Given the description of an element on the screen output the (x, y) to click on. 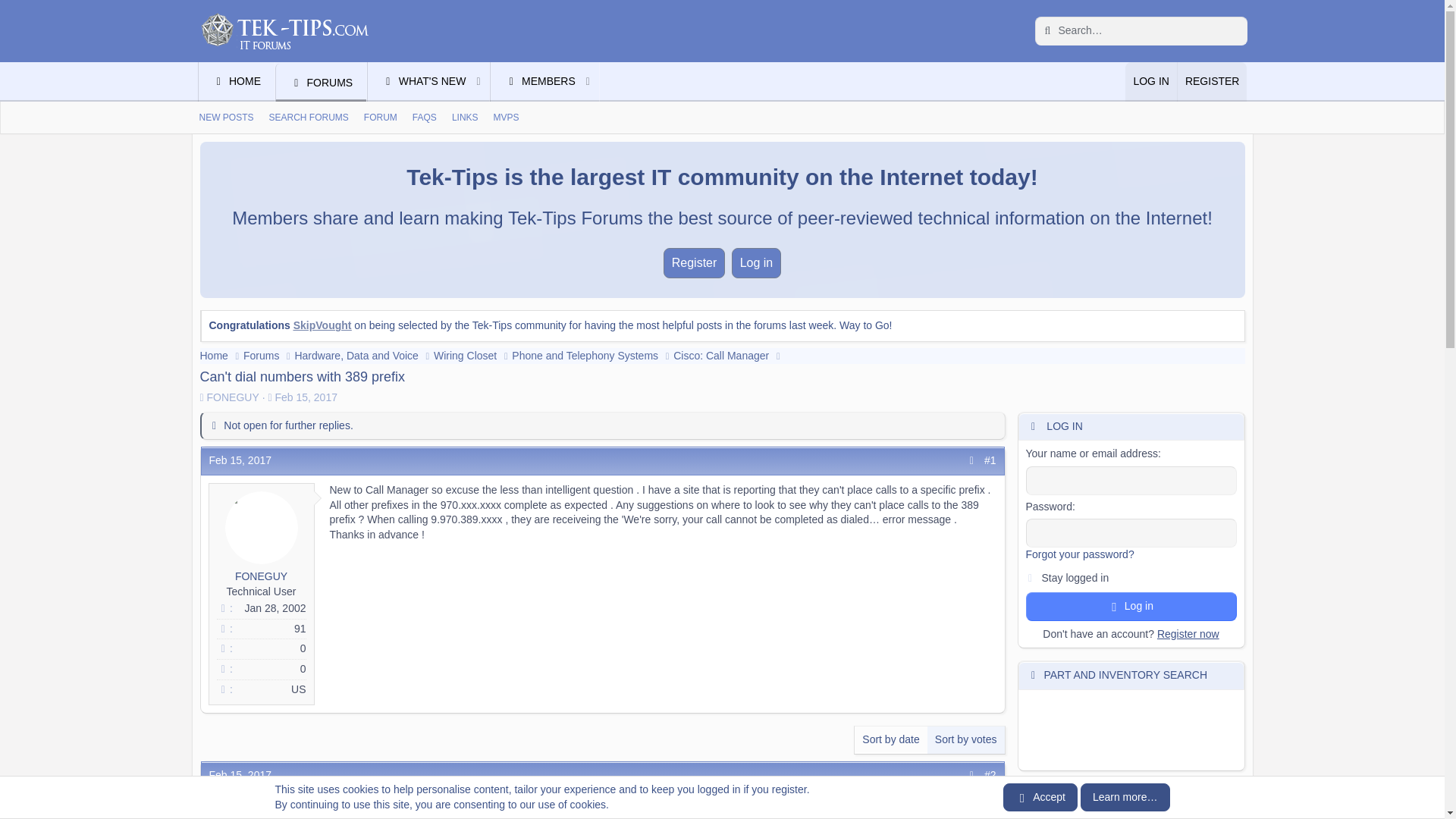
Feb 15, 2017 at 1:47 PM (240, 775)
HOME (236, 81)
WHAT'S NEW (417, 81)
FAQS (424, 117)
FORUMS (321, 82)
1 (397, 98)
REGISTER (1030, 574)
NEW POSTS (1211, 81)
SEARCH FORUMS (225, 117)
